Given the description of an element on the screen output the (x, y) to click on. 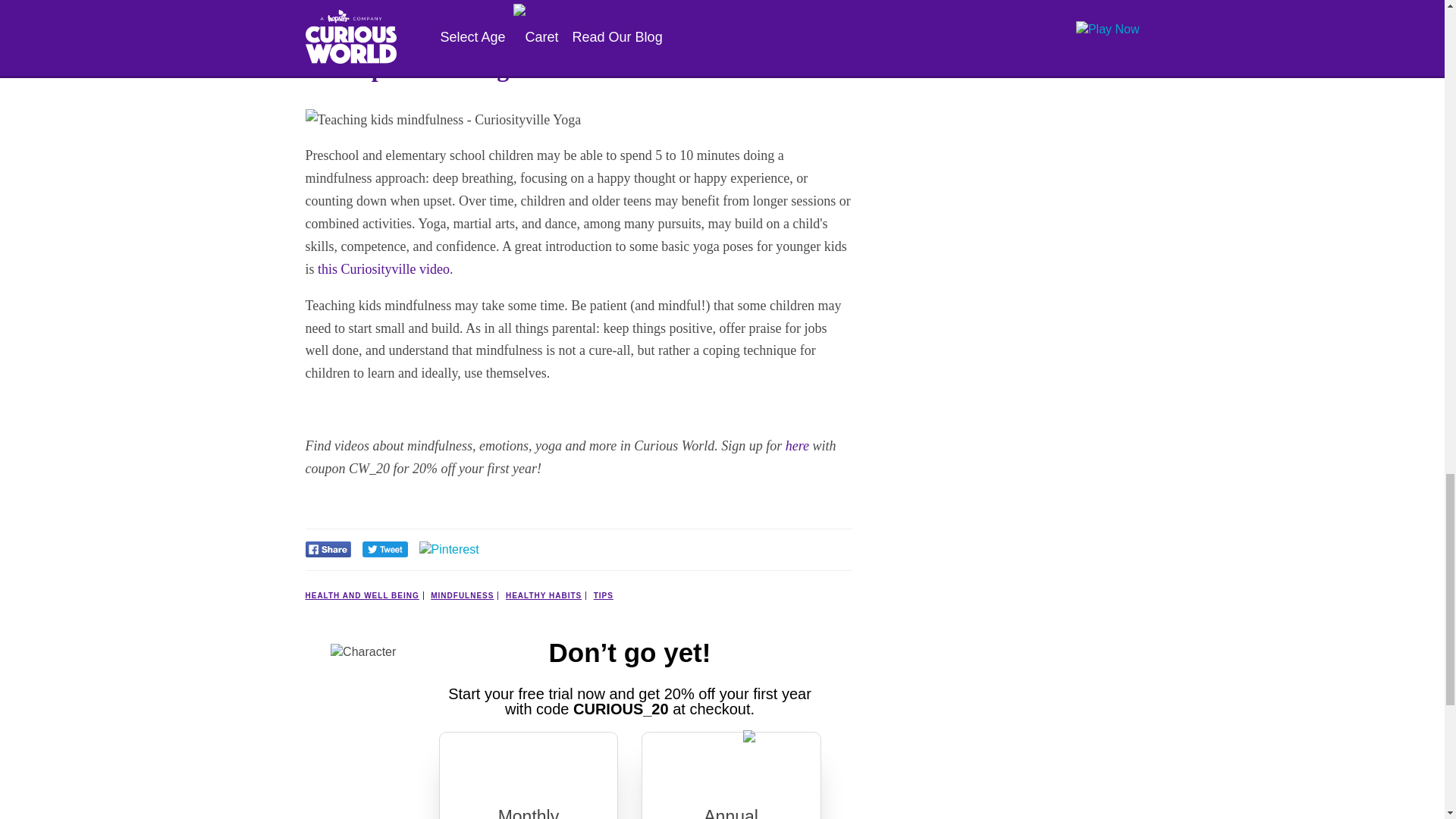
here (797, 445)
MINDFULNESS (463, 595)
HEALTH AND WELL BEING (363, 595)
this Curiosityville video (383, 268)
Twitter (384, 553)
HEALTHY HABITS (545, 595)
Facebook (327, 553)
TIPS (603, 595)
Pinterest (449, 549)
